Given the description of an element on the screen output the (x, y) to click on. 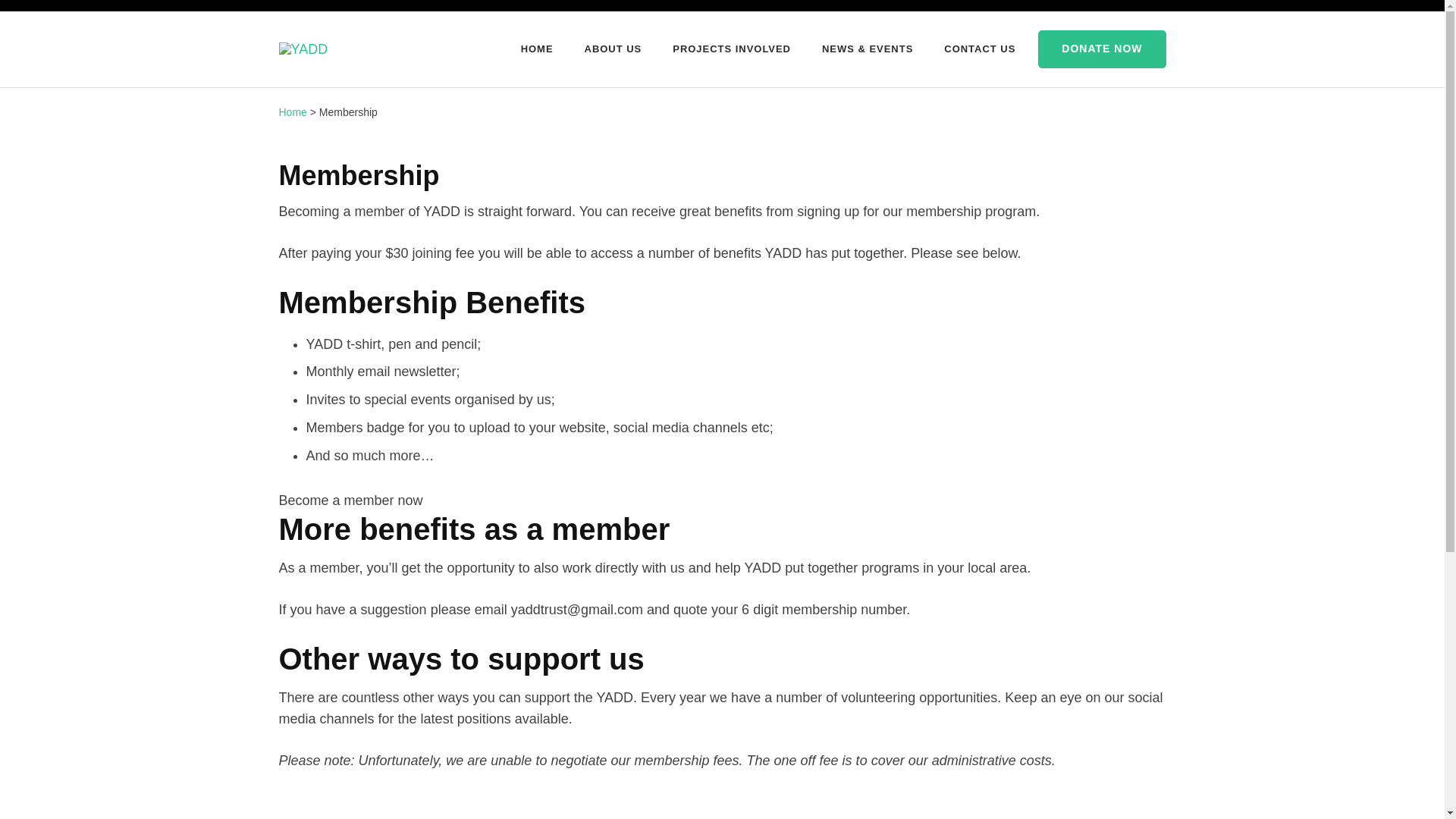
CONTACT US (978, 48)
DONATE NOW (1102, 48)
ABOUT US (613, 48)
HOME (537, 48)
Home (293, 111)
YADD (362, 59)
PROJECTS INVOLVED (731, 48)
